Given the description of an element on the screen output the (x, y) to click on. 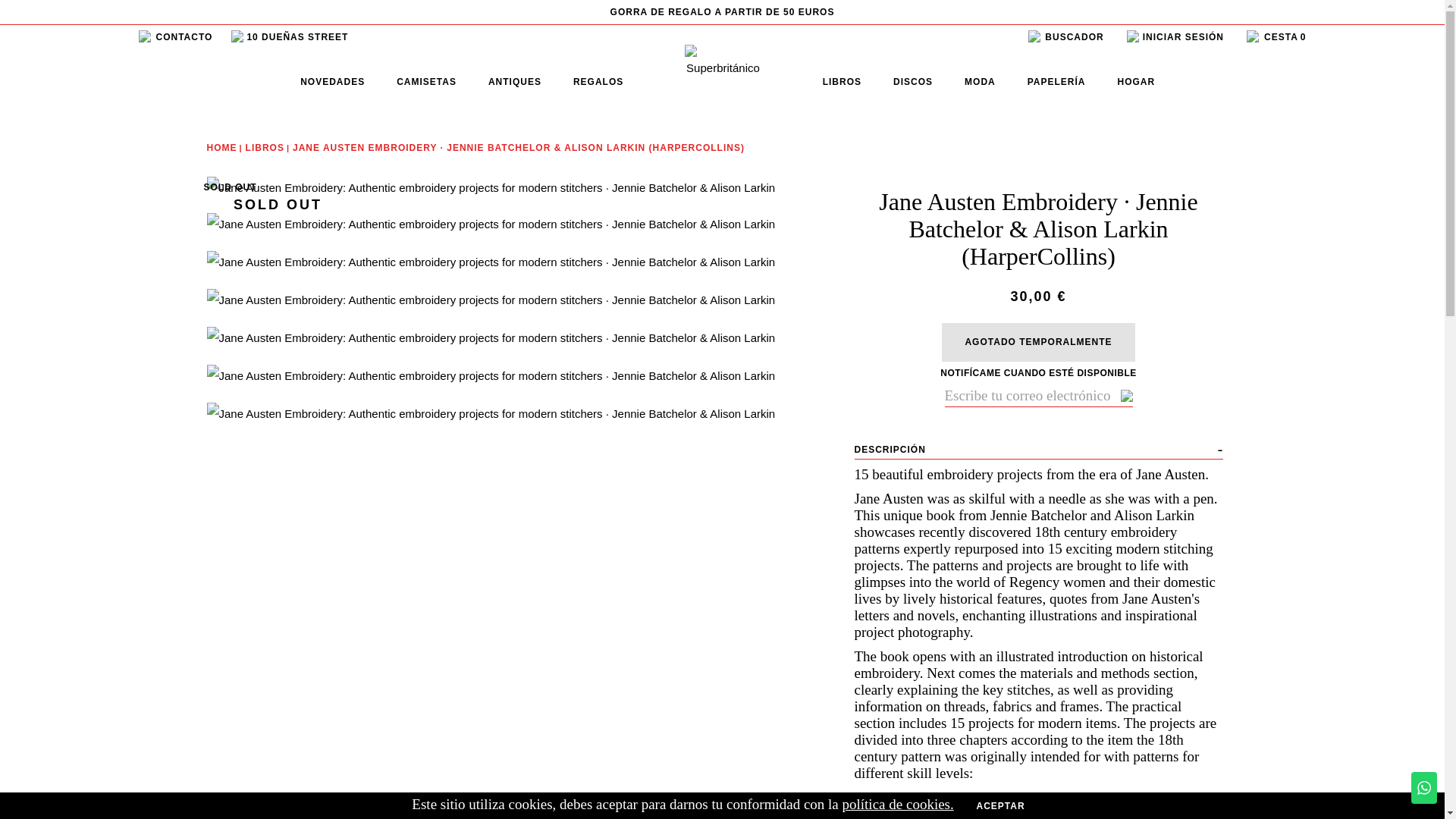
Cesta (1276, 36)
Buscador (1065, 36)
Regalos (598, 82)
Puntos de venta (289, 36)
ANTIQUES (514, 82)
Contacto (175, 36)
REGALOS (598, 82)
LIBROS (841, 82)
Novedades (332, 82)
CAMISETAS (426, 82)
Camisetas (426, 82)
Antiques (514, 82)
NOVEDADES (332, 82)
